Given the description of an element on the screen output the (x, y) to click on. 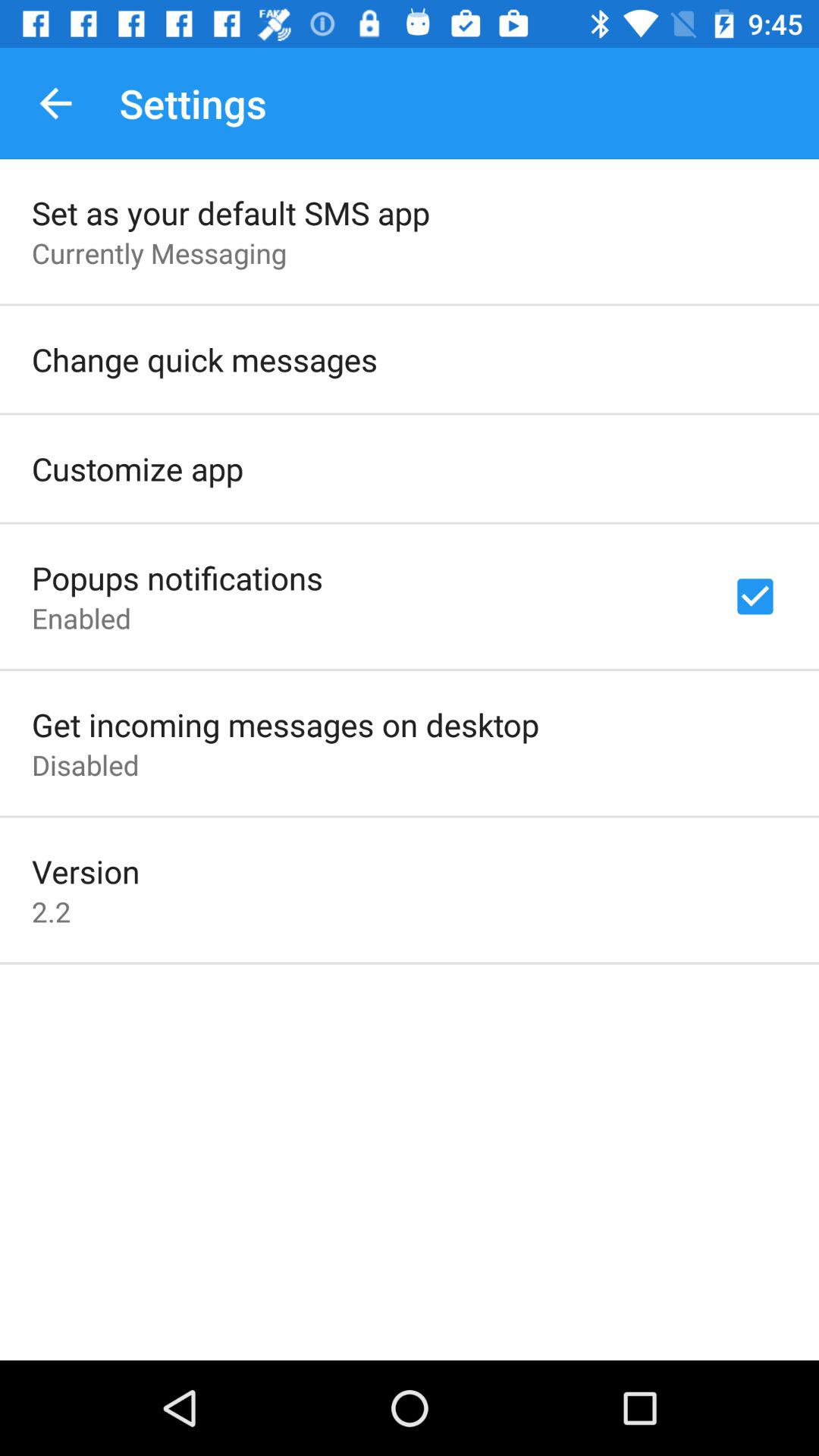
select the first checkbox on the web page (755, 596)
